Given the description of an element on the screen output the (x, y) to click on. 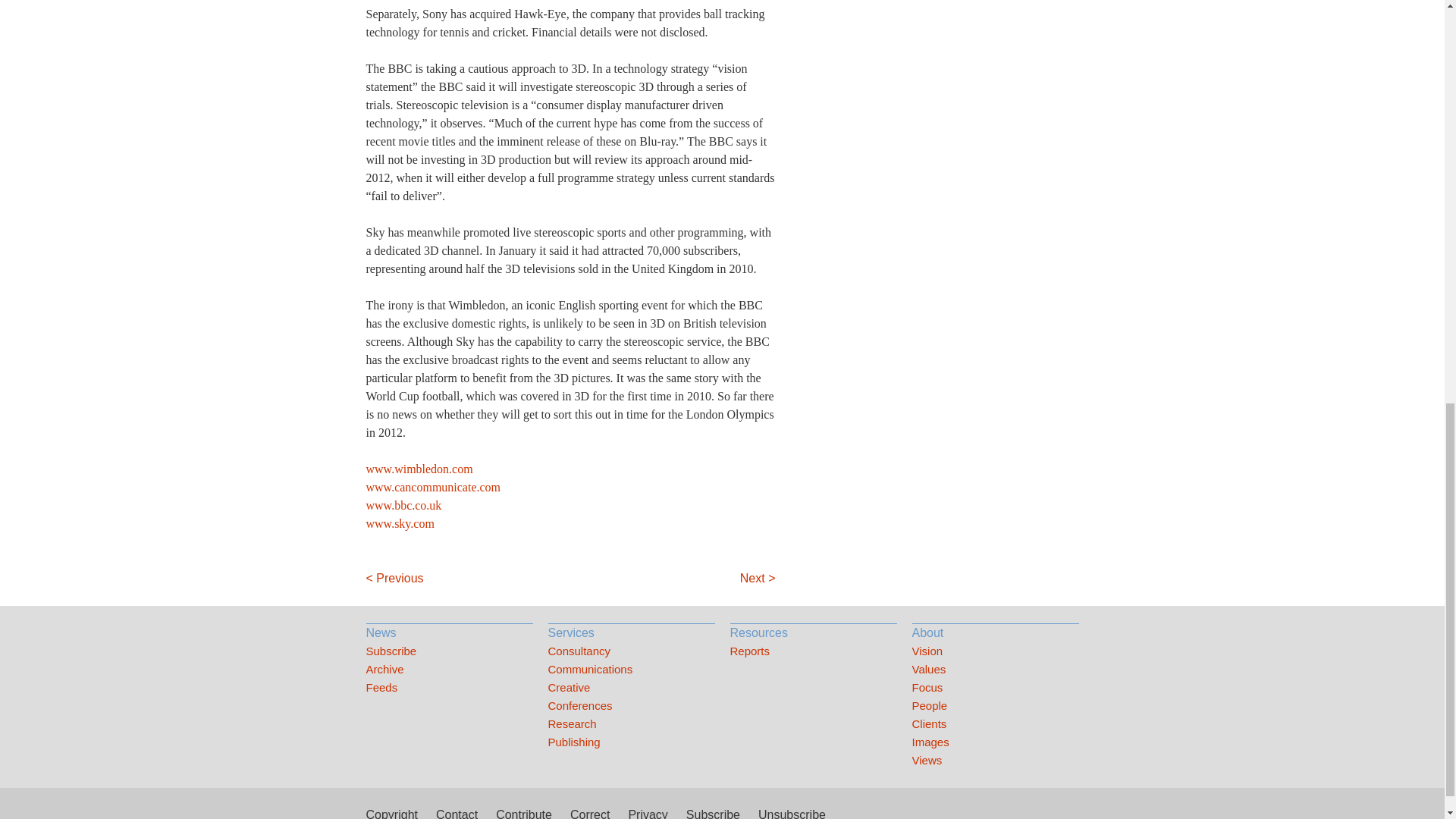
www.wimbledon.com (418, 468)
www.sky.com (399, 522)
Sky web site (399, 522)
BBC web site (403, 504)
Wimbledon web site (418, 468)
www.bbc.co.uk (403, 504)
www.cancommunicate.com (432, 486)
Can Communicate web site (432, 486)
Subscribe (448, 651)
